Given the description of an element on the screen output the (x, y) to click on. 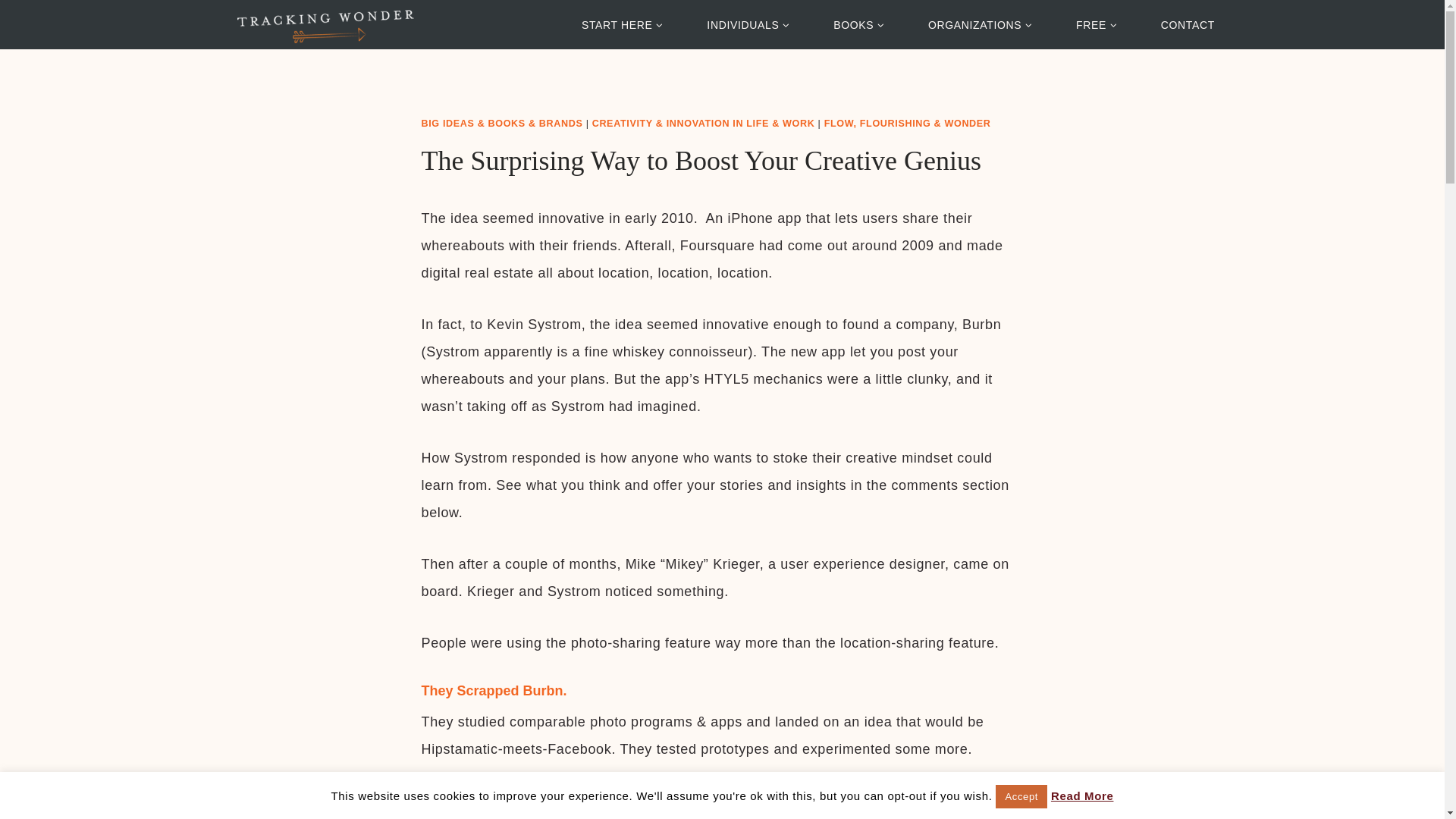
ORGANIZATIONS (980, 24)
CONTACT (1188, 24)
INDIVIDUALS (747, 24)
BOOKS (858, 24)
START HERE (622, 24)
FREE (1096, 24)
